Given the description of an element on the screen output the (x, y) to click on. 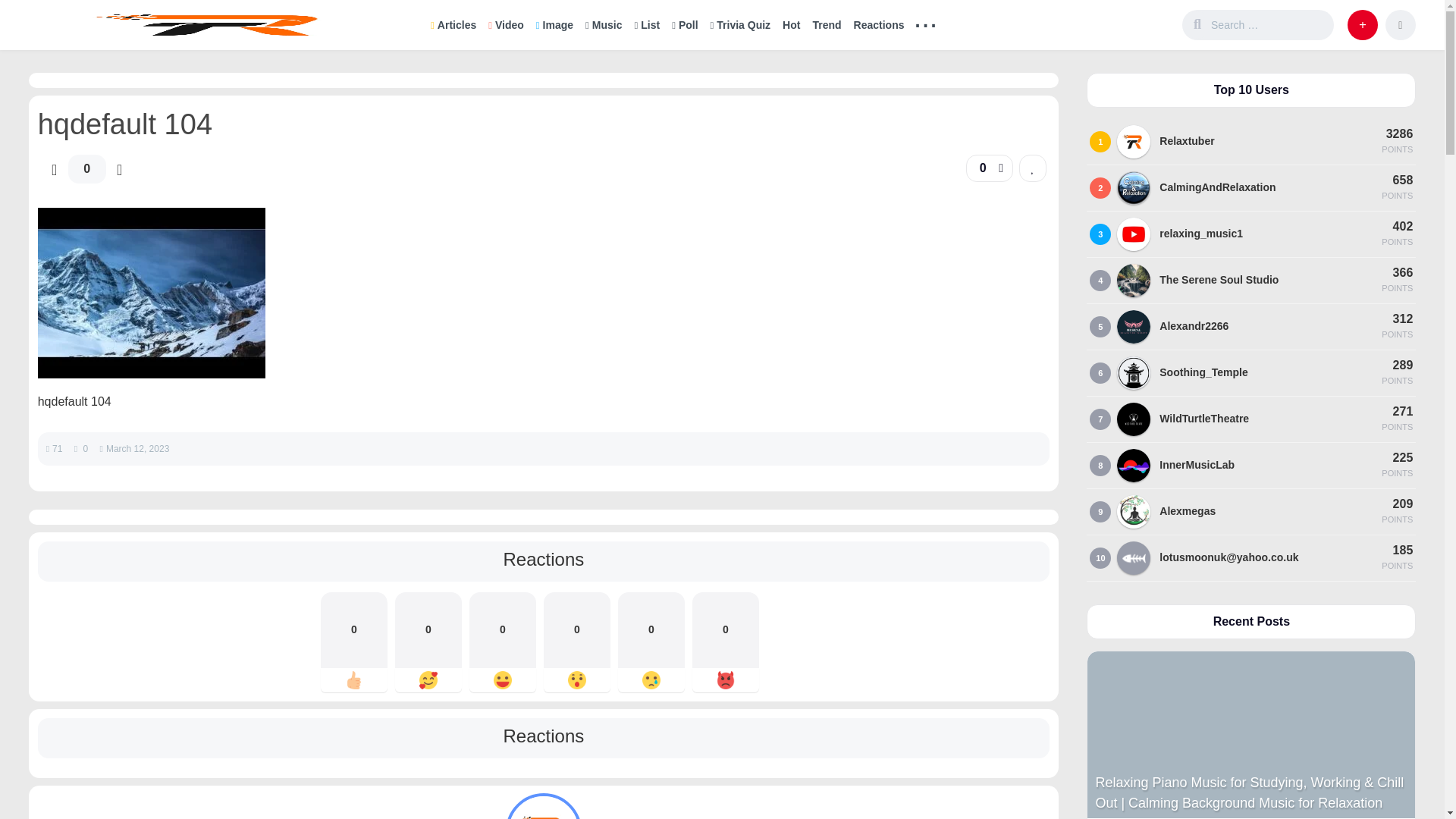
Search for: (1269, 24)
Music (603, 24)
List (646, 24)
Articles (453, 24)
hqdefault 104 (150, 373)
Image (554, 24)
Video (505, 24)
share (1000, 168)
